Given the description of an element on the screen output the (x, y) to click on. 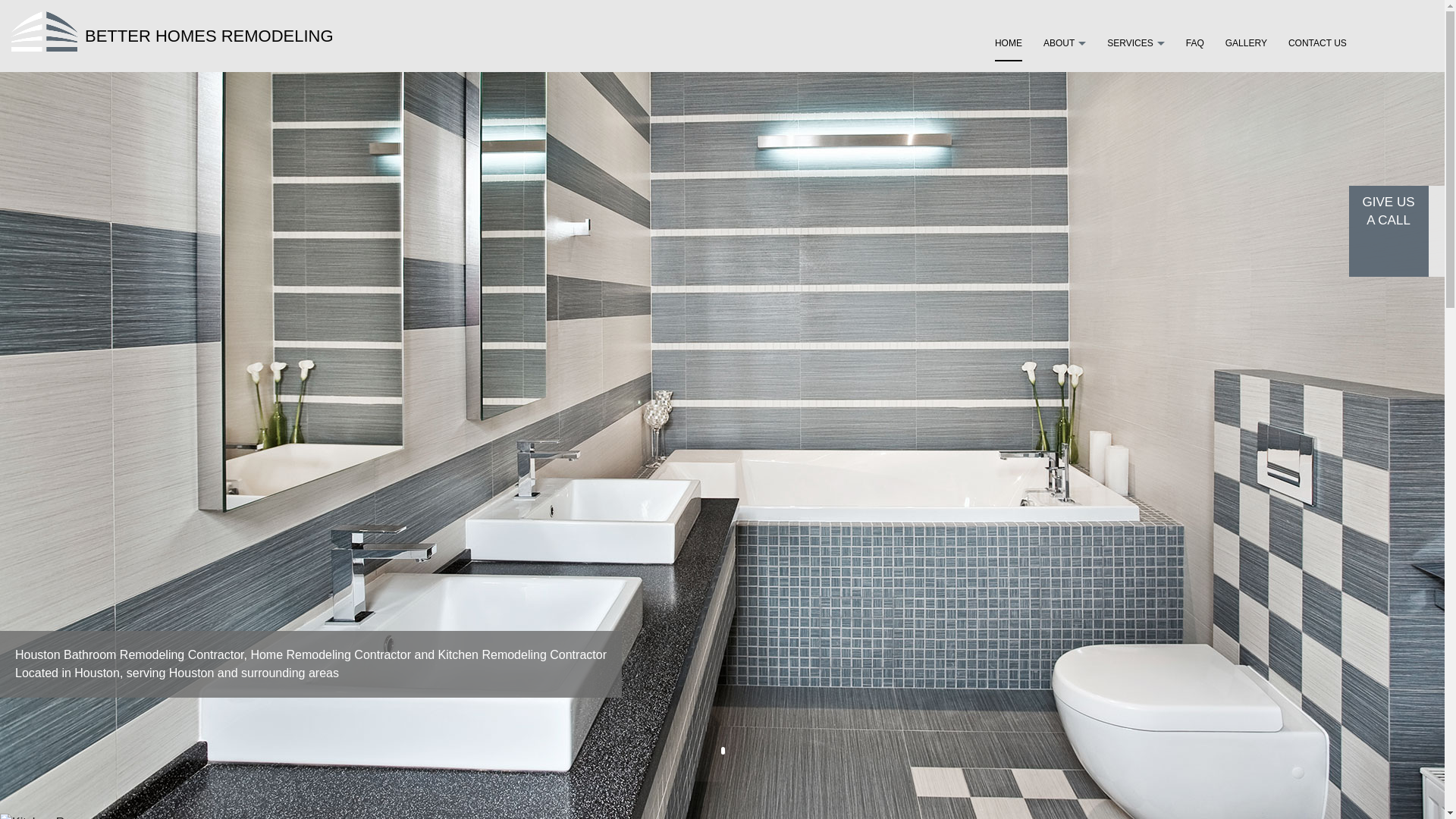
GRANITE COUNTERTOPS (1135, 261)
NATURAL DISASTER RESTORATION (1135, 102)
CONTACT US (1317, 43)
TESTIMONIALS (1063, 79)
WATER DAMAGE RESTORATION (1135, 124)
SERVICES (1134, 43)
BLOG (1063, 102)
CABINET REFACING (1135, 215)
QUARTZ COUNTERTOPS (1135, 238)
KITCHEN REMODELING (1135, 147)
BATHROOM REMODELING (1135, 170)
ABOUT (1064, 43)
GALLERY (1245, 43)
FIRE DAMAGE RESTORATION (1135, 79)
COUNTERTOP REFINISHING (1135, 192)
